Given the description of an element on the screen output the (x, y) to click on. 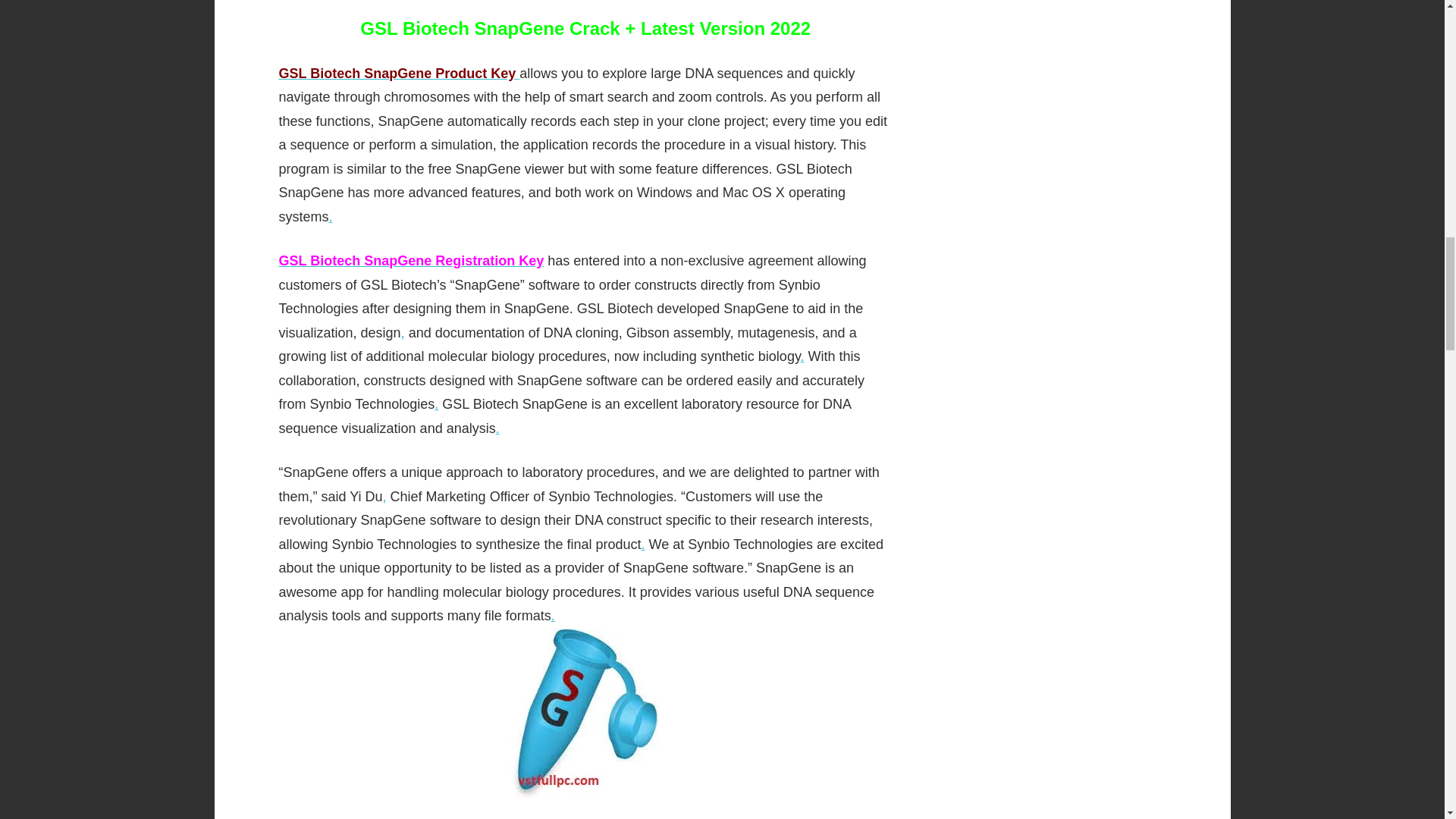
GSL Biotech SnapGene Registration Key (411, 260)
GSL Biotech SnapGene Product Key (399, 73)
